Given the description of an element on the screen output the (x, y) to click on. 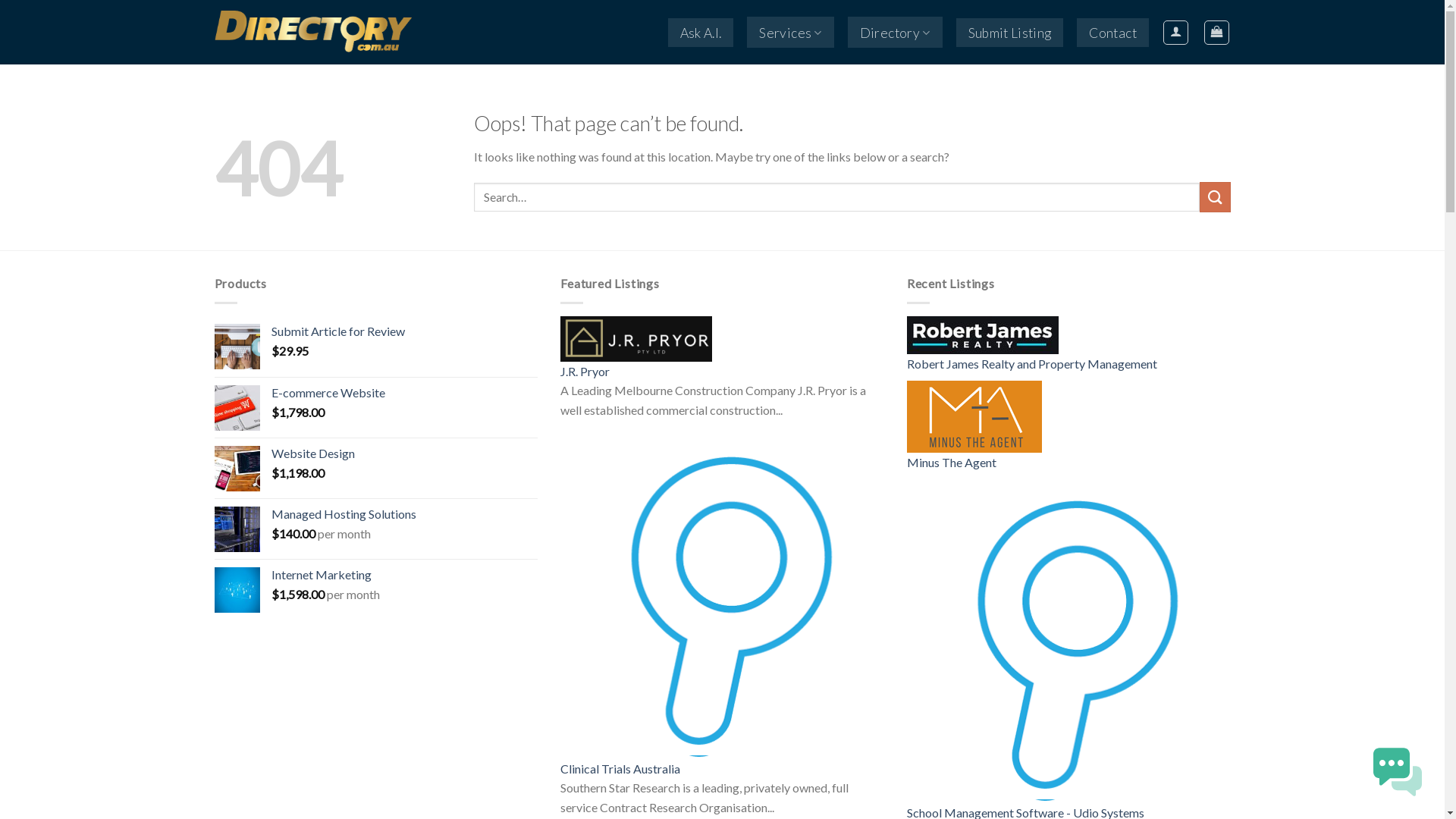
Ask A.I. Element type: text (701, 32)
Robert James Realty and Property Management Element type: text (1031, 363)
mta-logo-new.png Element type: hover (973, 416)
Contact Element type: text (1112, 32)
Internet Marketing Element type: text (404, 575)
J.R. Pryor Element type: text (584, 371)
Directory Element type: text (894, 31)
Managed Hosting Solutions Element type: text (404, 514)
Services Element type: text (789, 31)
J.R. Pryor Element type: hover (636, 338)
E-commerce Website Element type: text (404, 393)
rjr-logo-white.jpg Element type: hover (982, 335)
Website Design Element type: text (404, 453)
Minus The Agent Element type: text (951, 462)
Directory.com.au Element type: hover (323, 32)
Submit Article for Review Element type: text (404, 331)
Clinical Trials Australia Element type: text (620, 768)
Cart Element type: hover (1216, 31)
Submit Listing Element type: text (1009, 32)
